Given the description of an element on the screen output the (x, y) to click on. 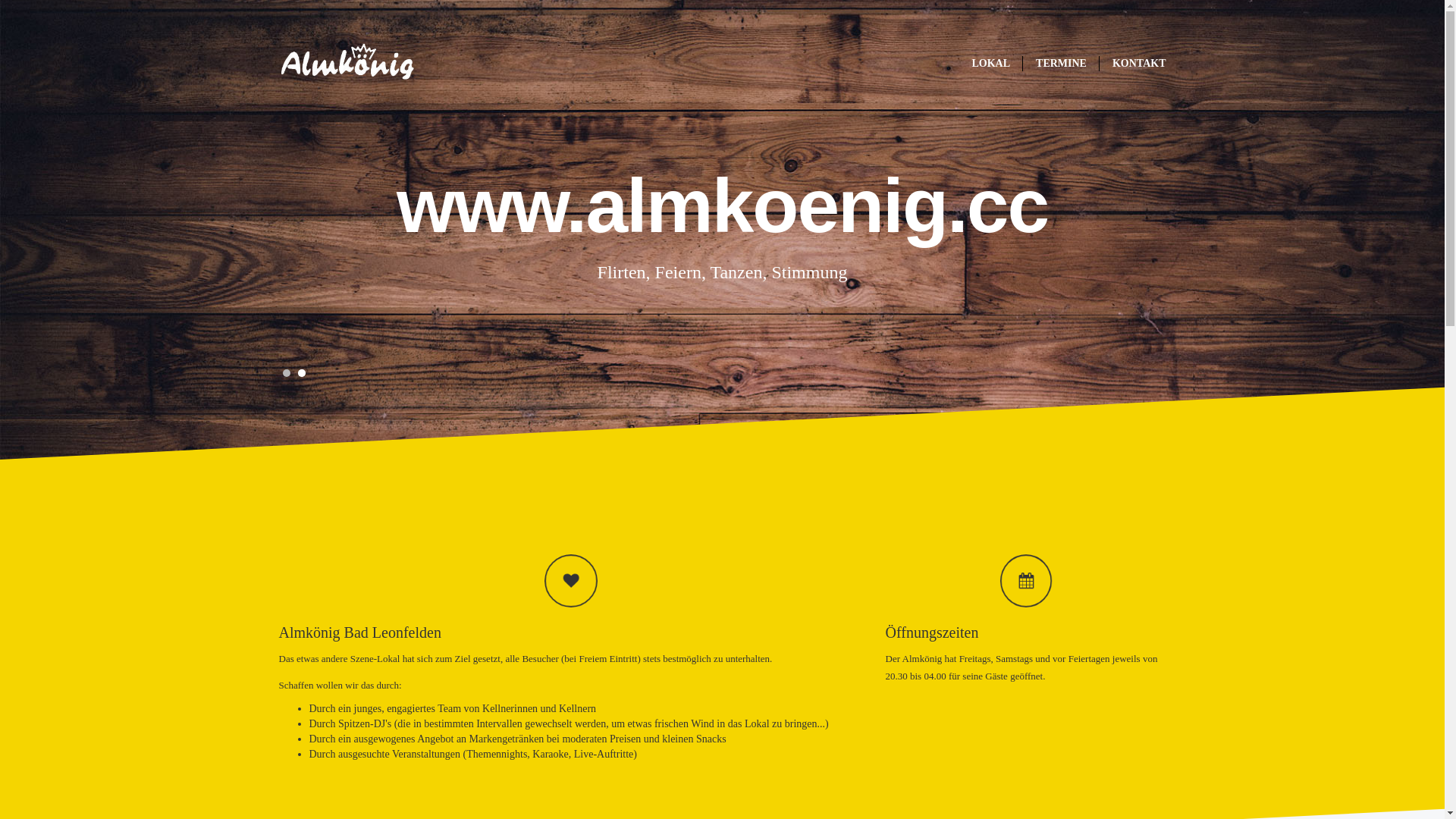
TERMINE Element type: text (1060, 63)
LOKAL Element type: text (990, 63)
KONTAKT Element type: text (1139, 63)
